Given the description of an element on the screen output the (x, y) to click on. 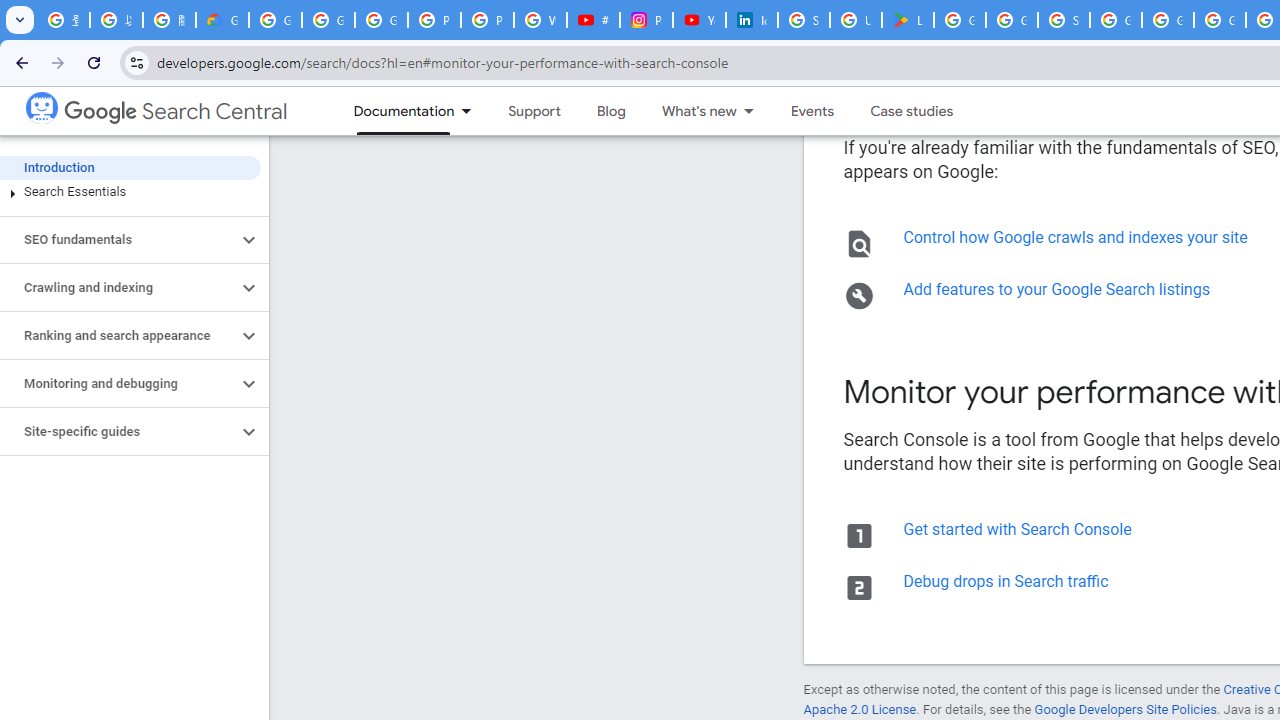
Last Shelter: Survival - Apps on Google Play (907, 20)
Dropdown menu for Documentation (472, 111)
Google Developers Site Policies (1125, 709)
Google Cloud Platform (1167, 20)
Google Search Central (176, 111)
